Given the description of an element on the screen output the (x, y) to click on. 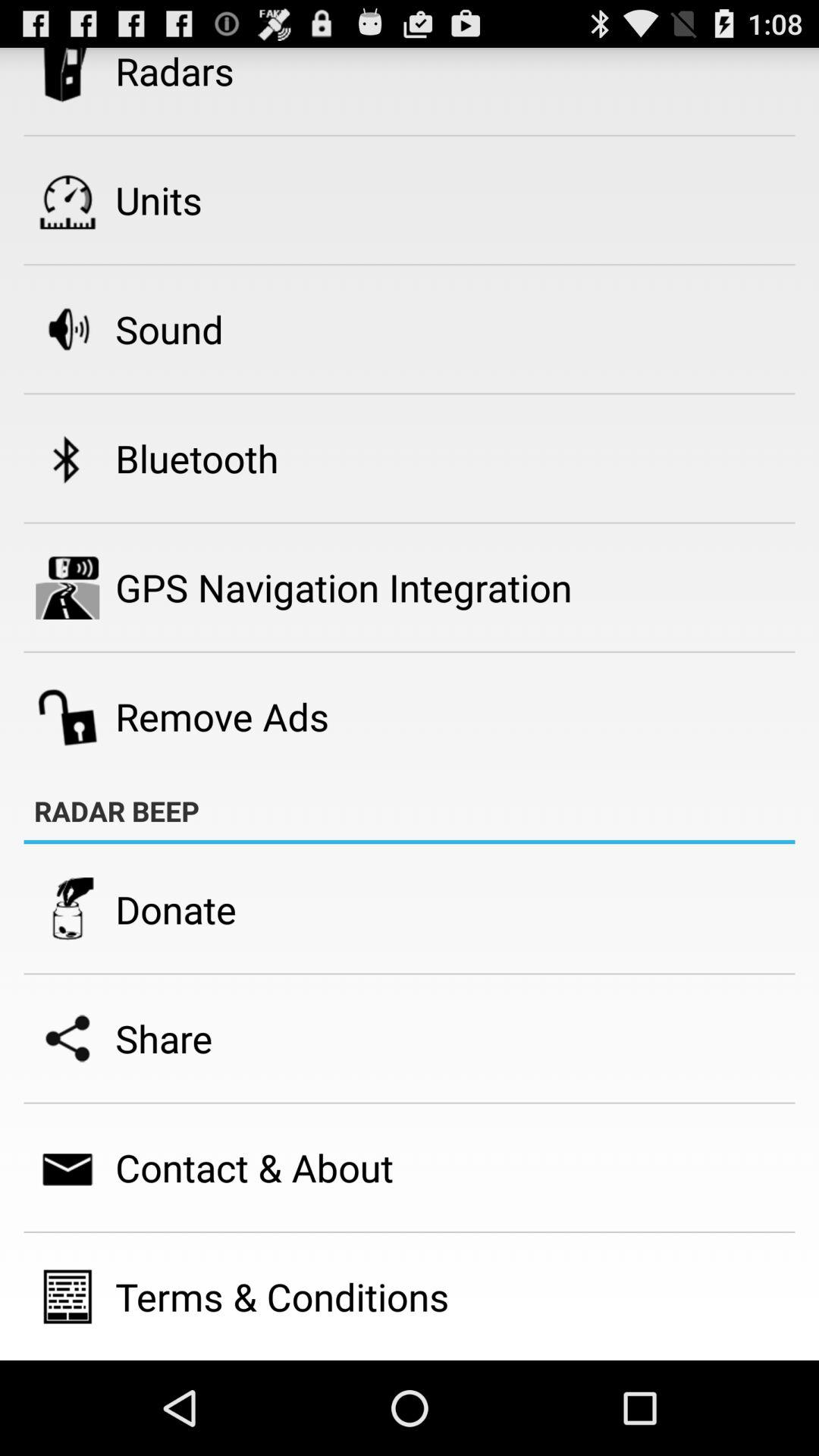
jump until the share (163, 1038)
